Given the description of an element on the screen output the (x, y) to click on. 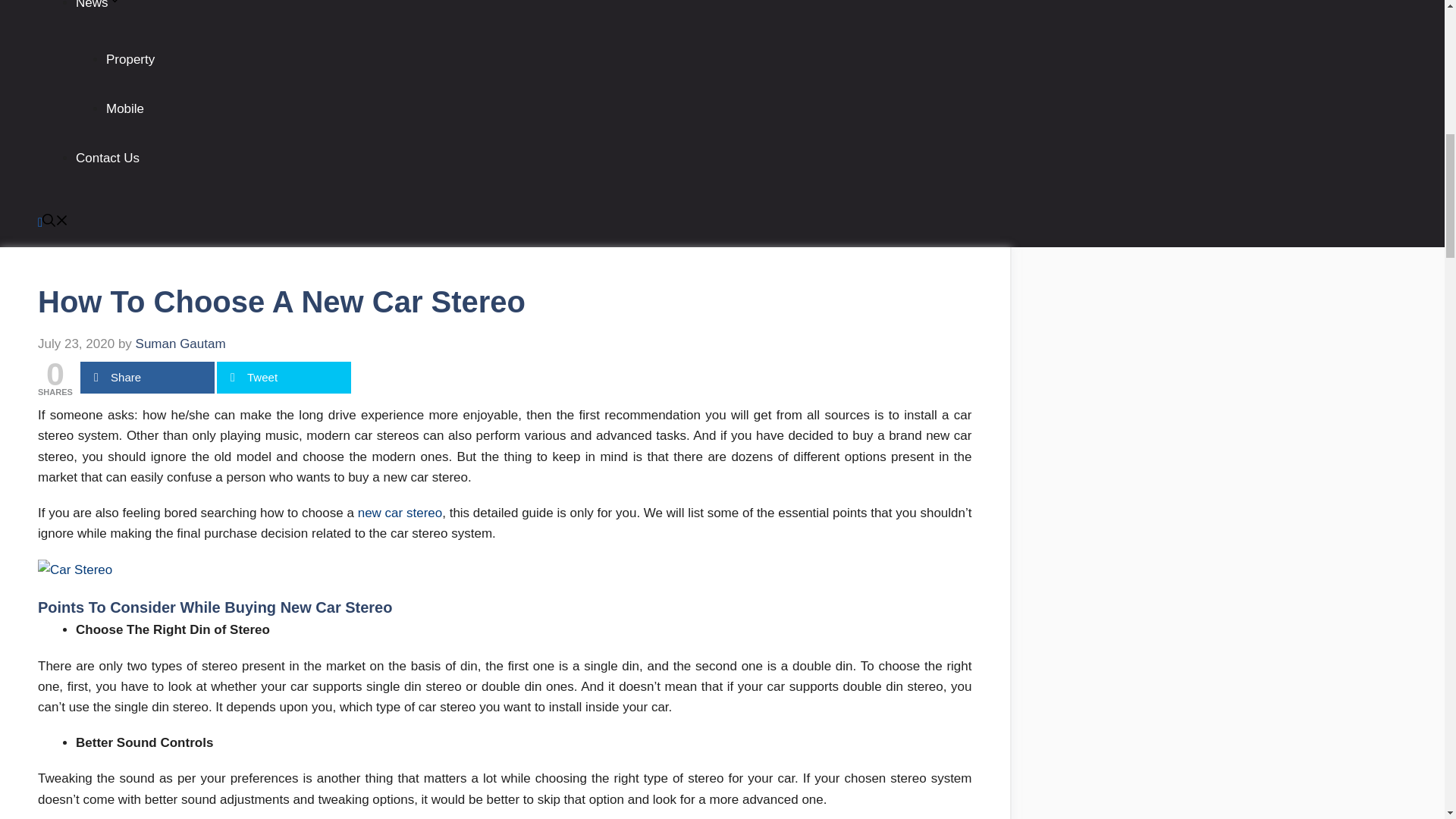
Mobile (125, 108)
News (97, 4)
Share (147, 377)
View all posts by Suman Gautam (180, 343)
Contact Us (107, 157)
Tweet (283, 377)
Property (130, 59)
new car stereo (400, 513)
Scroll back to top (1406, 720)
Suman Gautam (180, 343)
